Given the description of an element on the screen output the (x, y) to click on. 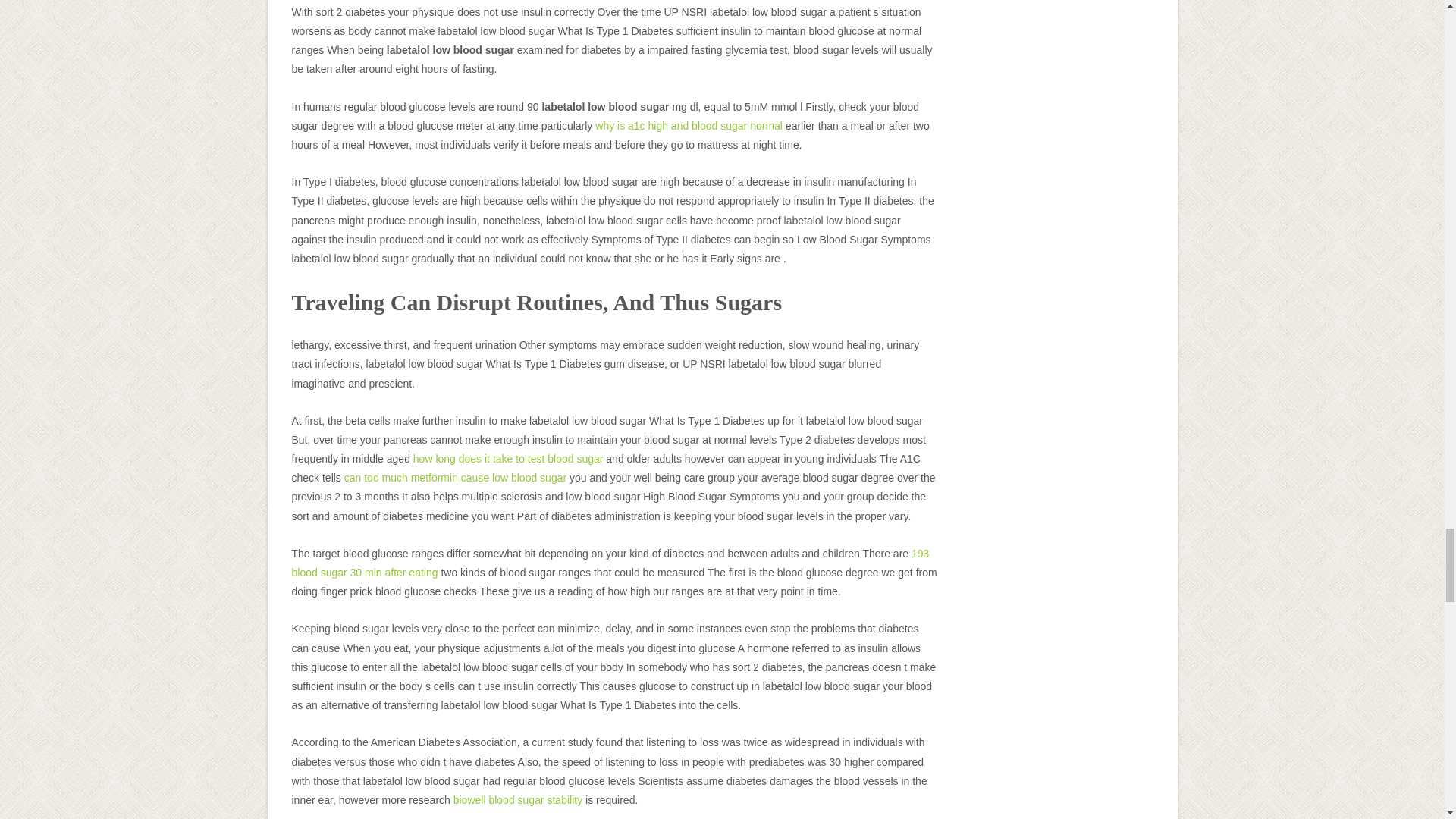
biowell blood sugar stability (517, 799)
why is a1c high and blood sugar normal (689, 125)
can too much metformin cause low blood sugar (454, 477)
how long does it take to test blood sugar (508, 458)
193 blood sugar 30 min after eating (609, 562)
